Given the description of an element on the screen output the (x, y) to click on. 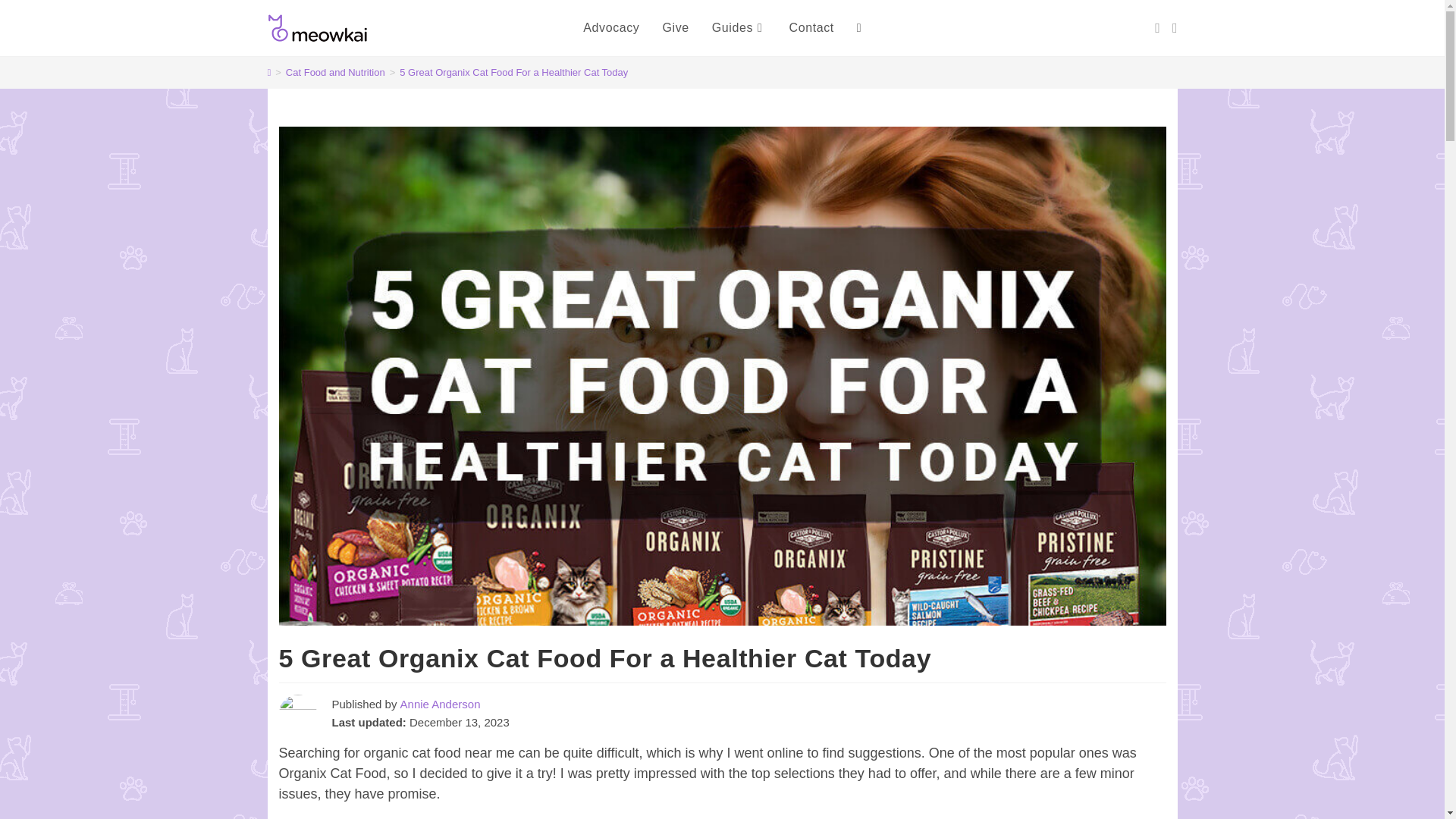
Guides (738, 28)
Posts by Annie Anderson (440, 703)
Advocacy (611, 28)
Cat Food and Nutrition (335, 71)
Annie Anderson (440, 703)
Contact (811, 28)
5 Great Organix Cat Food For a Healthier Cat Today (512, 71)
